Given the description of an element on the screen output the (x, y) to click on. 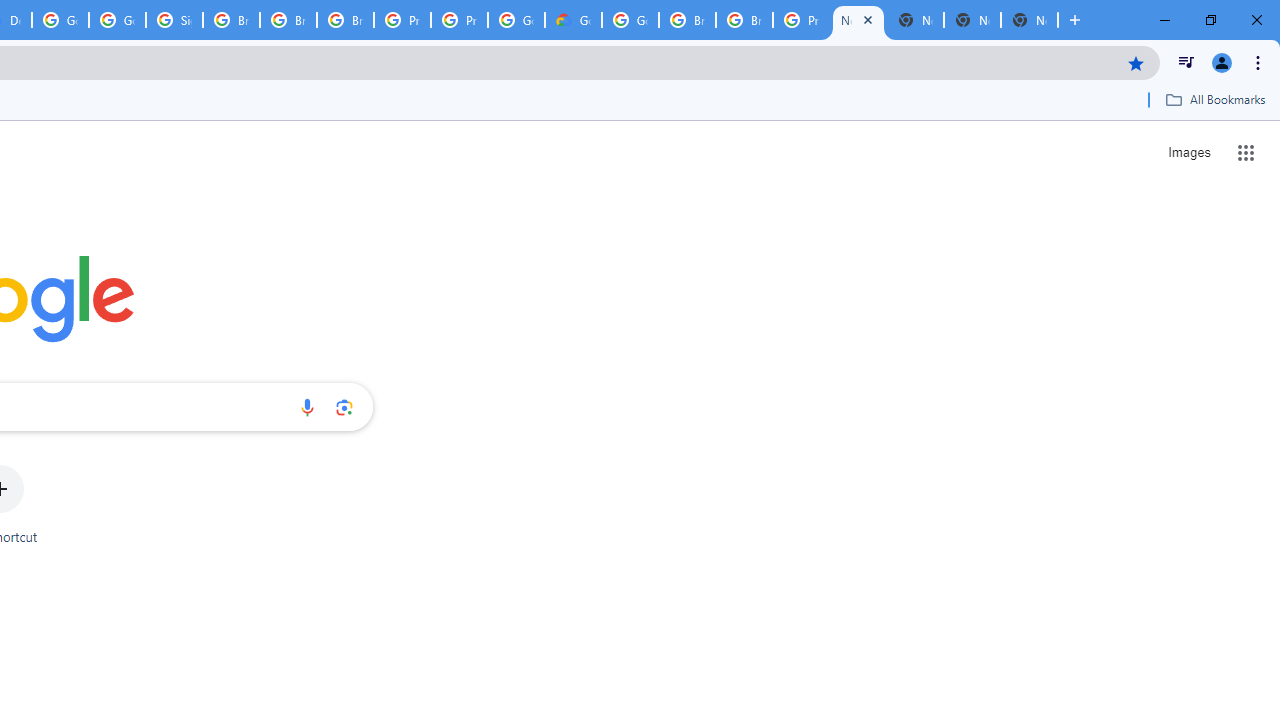
Browse Chrome as a guest - Computer - Google Chrome Help (288, 20)
Control your music, videos, and more (1185, 62)
Browse Chrome as a guest - Computer - Google Chrome Help (744, 20)
Browse Chrome as a guest - Computer - Google Chrome Help (687, 20)
New Tab (858, 20)
Browse Chrome as a guest - Computer - Google Chrome Help (345, 20)
Search by image (344, 407)
Browse Chrome as a guest - Computer - Google Chrome Help (231, 20)
All Bookmarks (1215, 99)
